Given the description of an element on the screen output the (x, y) to click on. 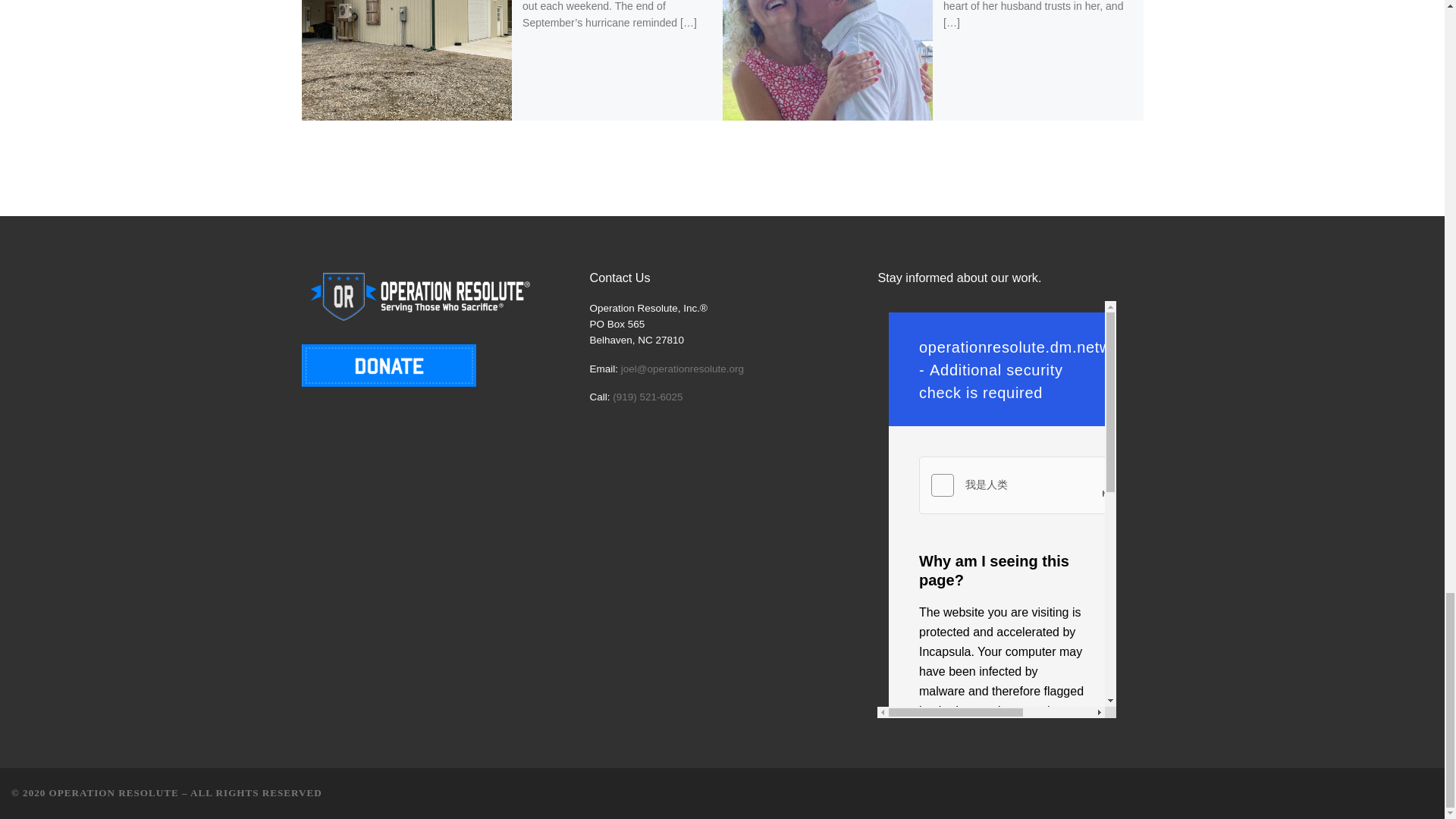
Operation Resolute (114, 792)
